Given the description of an element on the screen output the (x, y) to click on. 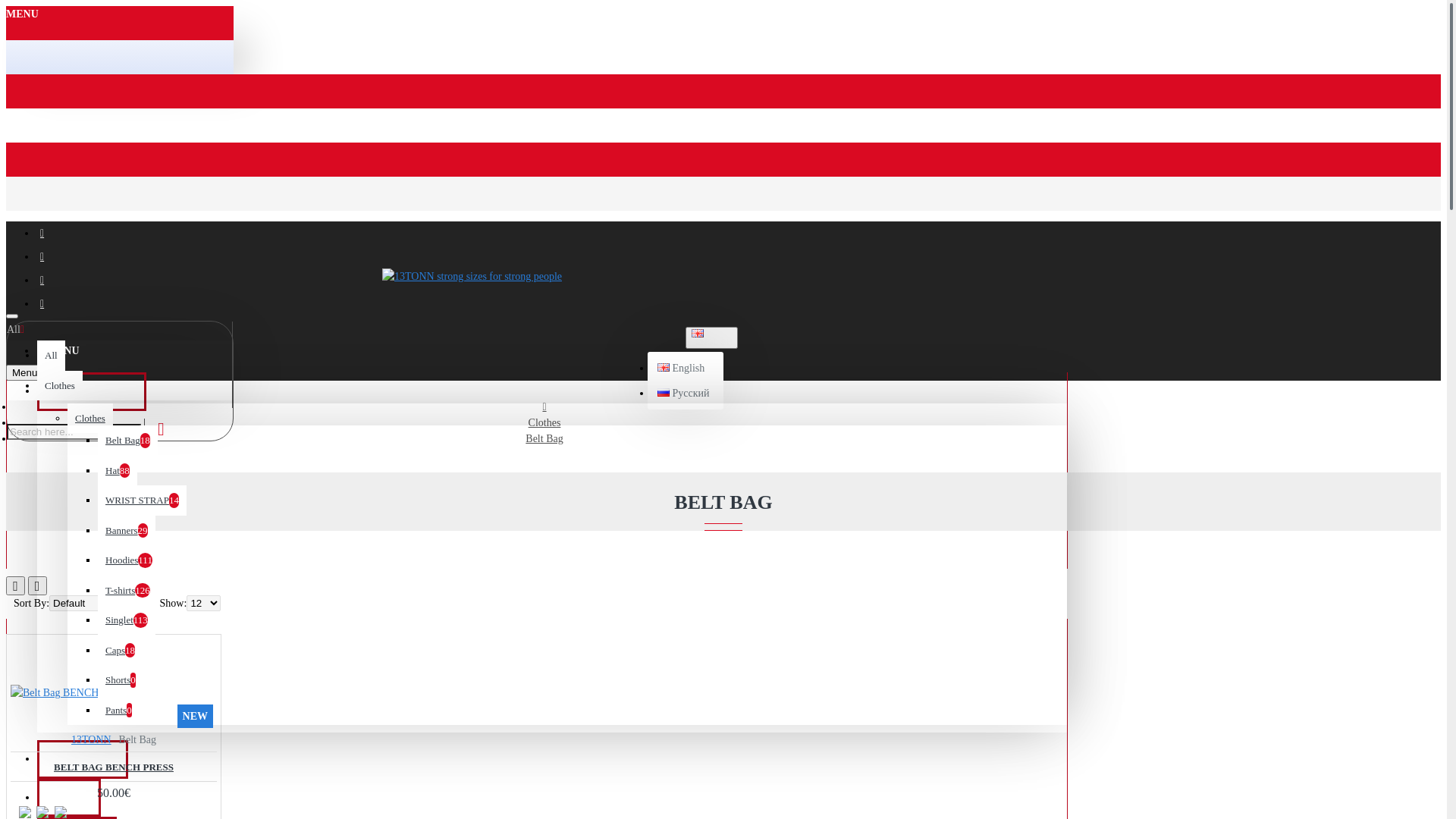
Clothes Element type: text (59, 385)
WRIST STRAP
14 Element type: text (141, 500)
ABOUT US Element type: text (82, 759)
Pants
0 Element type: text (118, 709)
ENGLISH Element type: text (711, 337)
T-shirts
126 Element type: text (127, 589)
Shorts
0 Element type: text (120, 680)
Singlet
113 Element type: text (126, 620)
Grid Element type: hover (15, 585)
Belt Bag  BENCH PRESS Element type: hover (71, 692)
13TONN strong sizes for strong people Element type: hover (471, 276)
BELT BAG BENCH PRESS Element type: text (113, 767)
CATEGORIES Element type: text (91, 391)
NEWS Element type: text (68, 797)
Hat
88 Element type: text (117, 470)
English Element type: text (680, 367)
Belt Bag Element type: text (543, 438)
Caps
18 Element type: text (119, 650)
List Element type: hover (36, 585)
Hoodies
111 Element type: text (128, 560)
English Element type: hover (663, 367)
13TONN Element type: text (91, 739)
Belt Bag
18 Element type: text (127, 440)
Menu Element type: text (24, 372)
Banners
29 Element type: text (126, 530)
All Element type: text (51, 355)
Clothes Element type: text (89, 418)
Clothes Element type: text (544, 422)
MENU Element type: text (57, 347)
English Element type: hover (697, 333)
